Given the description of an element on the screen output the (x, y) to click on. 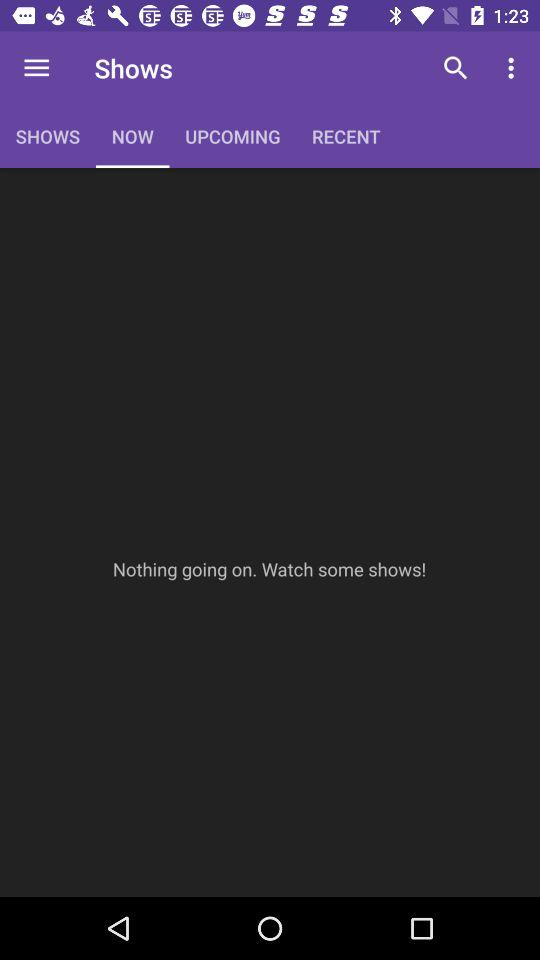
tap icon next to the recent item (455, 67)
